Given the description of an element on the screen output the (x, y) to click on. 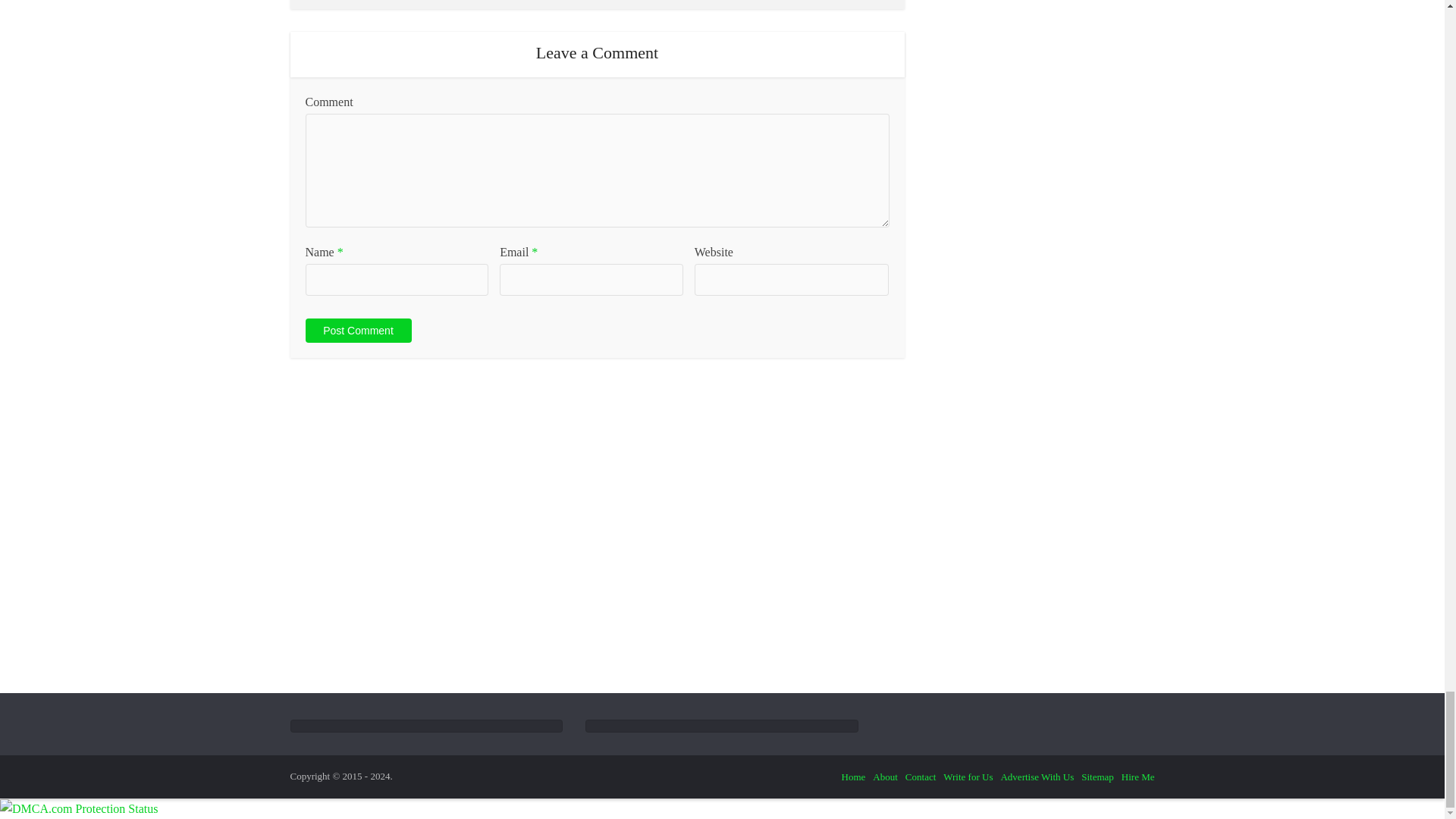
Post Comment (357, 330)
